Given the description of an element on the screen output the (x, y) to click on. 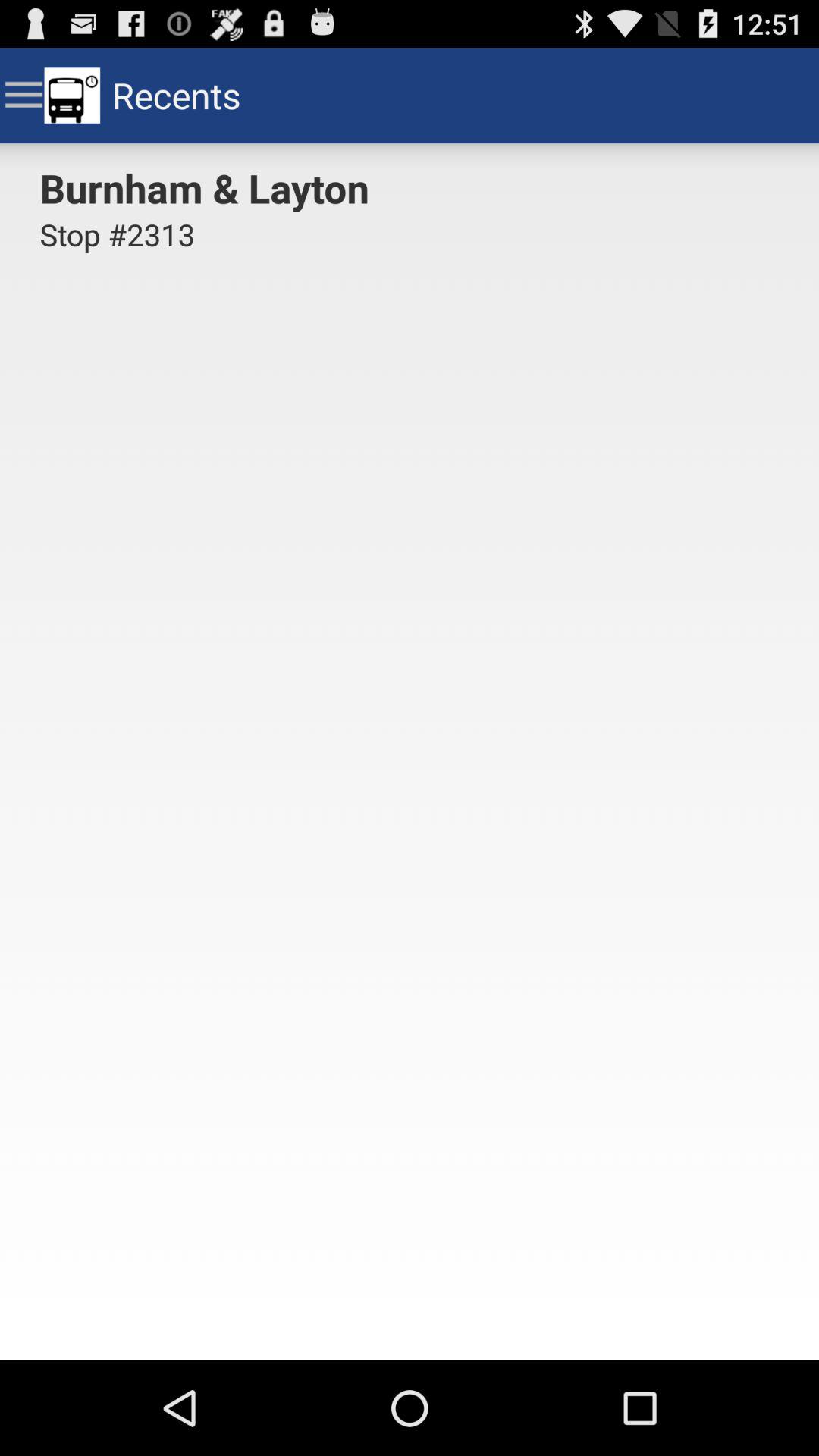
jump to stop #2313 (117, 243)
